Given the description of an element on the screen output the (x, y) to click on. 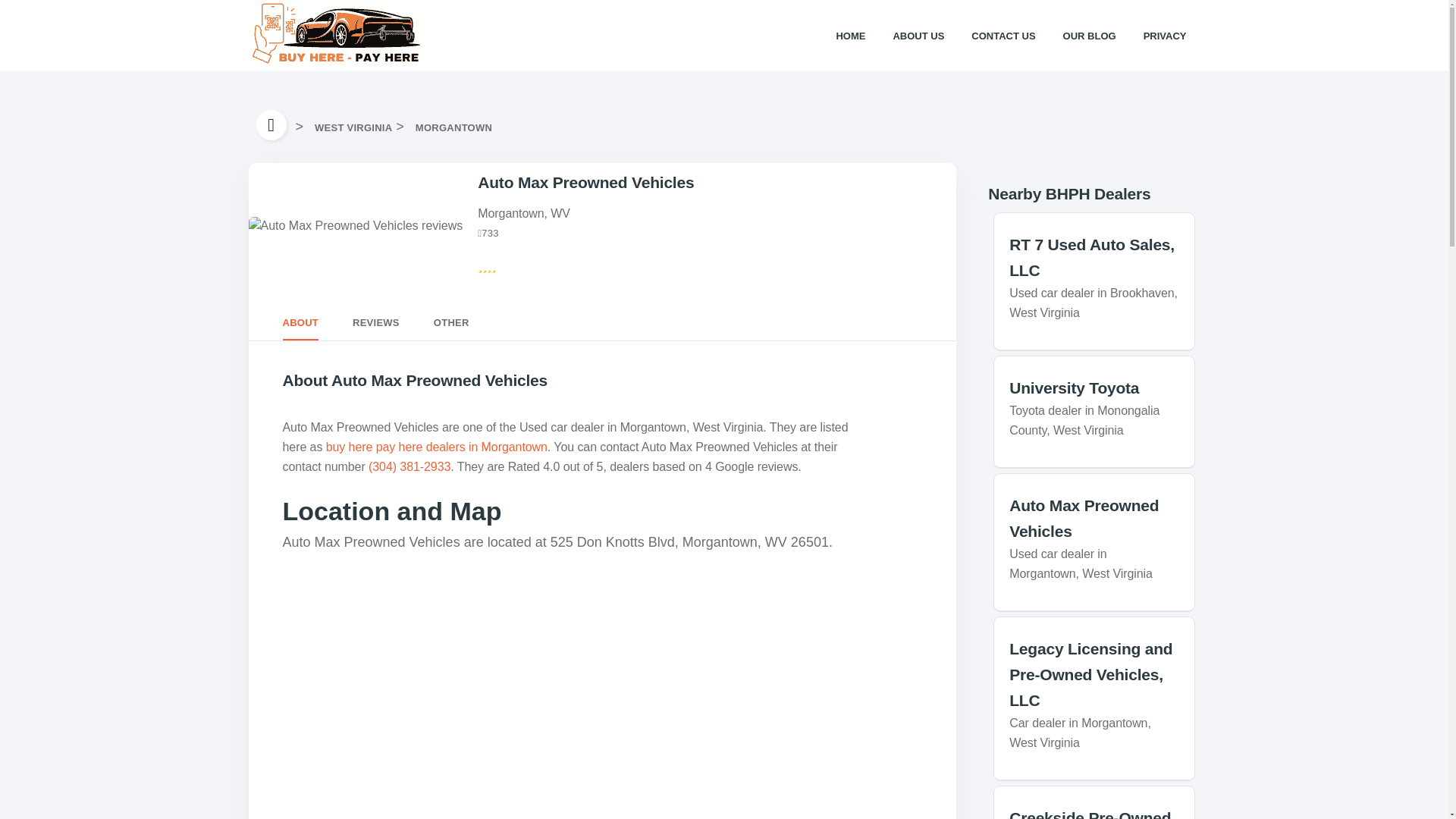
Buy here pay here West Virginia (352, 127)
Buy here pay here dealer in Morgantown (453, 127)
OTHER (450, 323)
CONTACT US (1003, 35)
WEST VIRGINIA (352, 127)
